Given the description of an element on the screen output the (x, y) to click on. 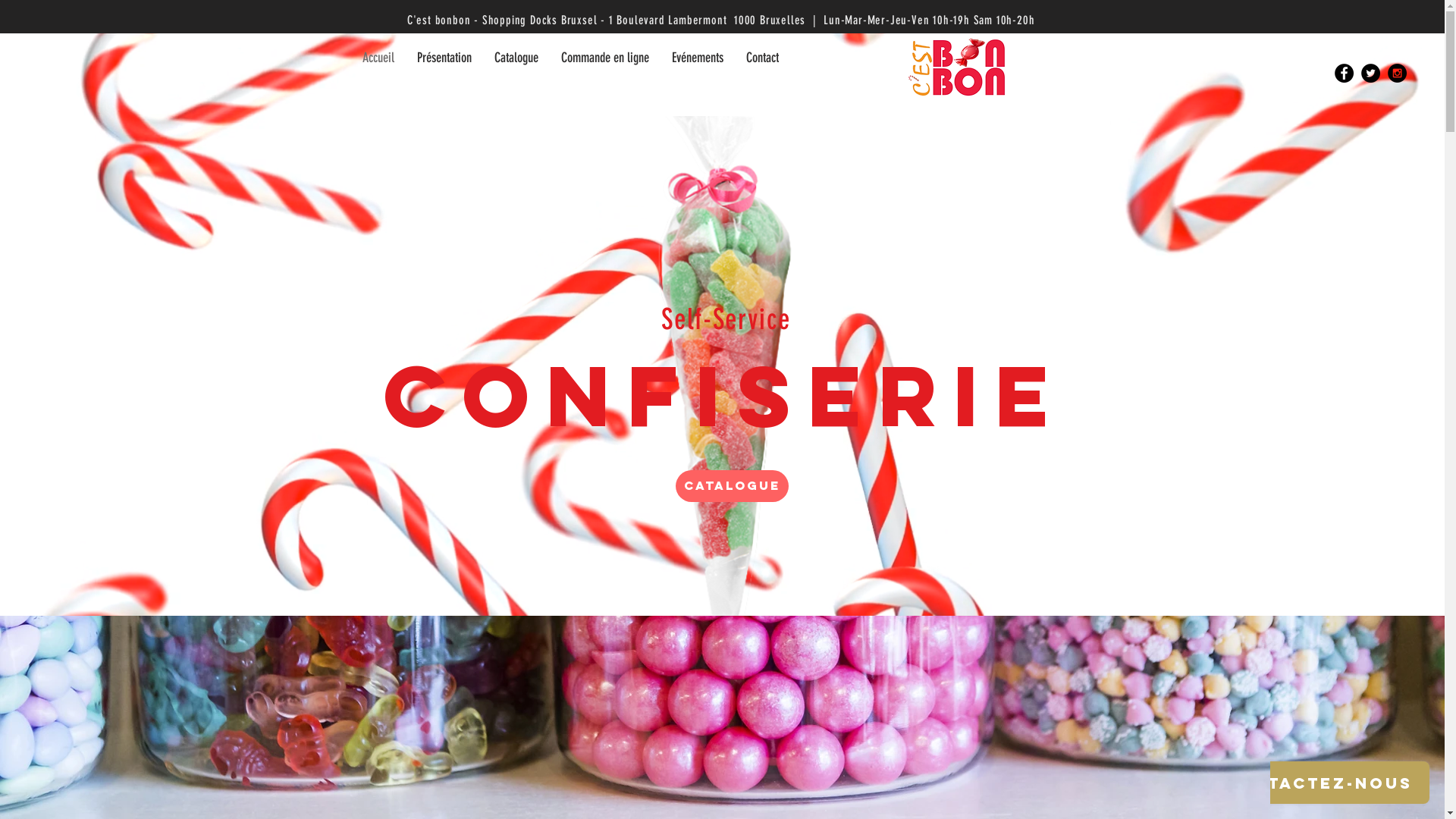
Catalogue Element type: text (515, 57)
Se connecter Element type: text (1011, 47)
Contact Element type: text (761, 57)
CATALOGUE Element type: text (730, 486)
Accueil Element type: text (377, 57)
Commande en ligne Element type: text (604, 57)
